Given the description of an element on the screen output the (x, y) to click on. 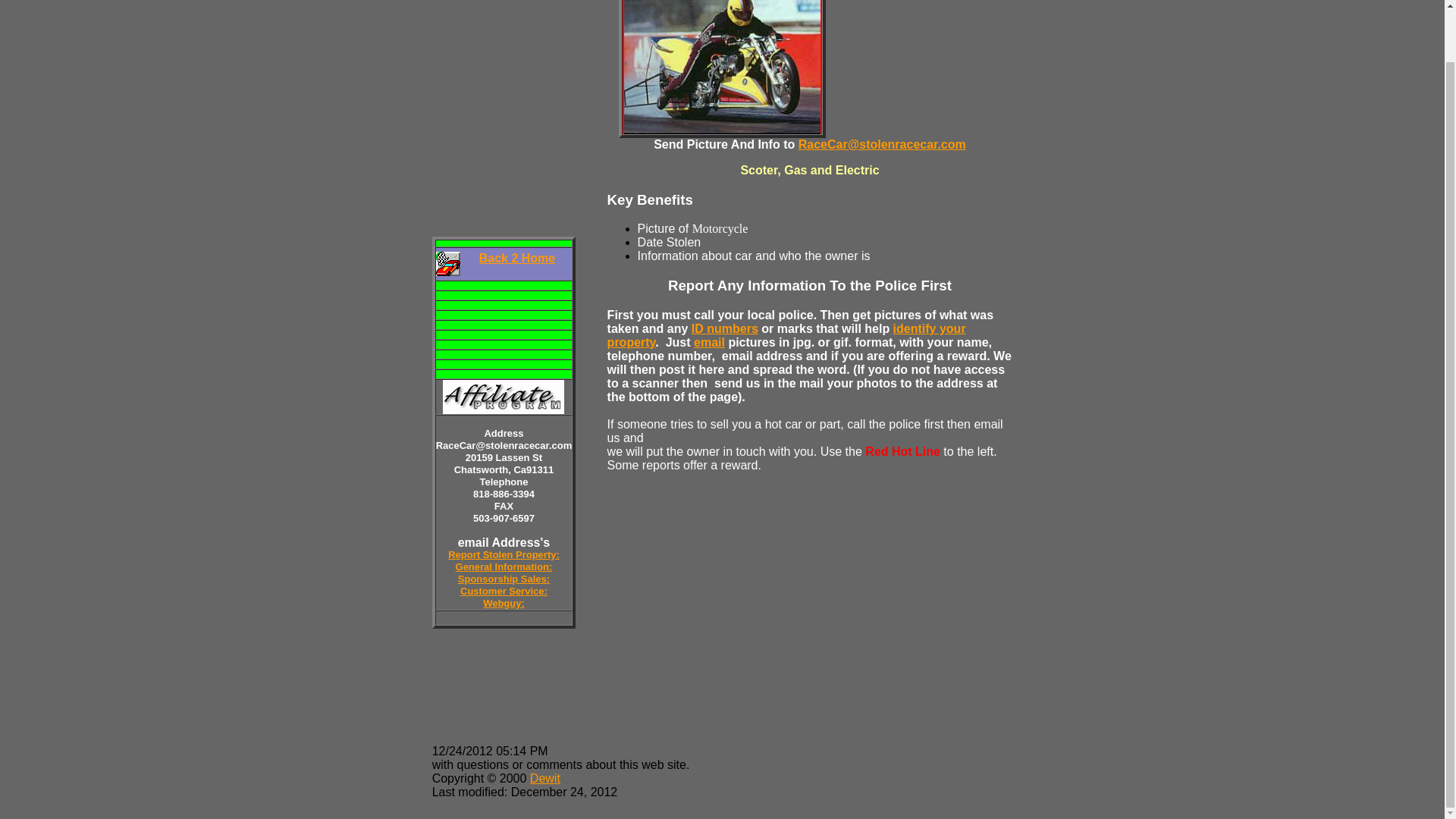
Back 2 Home (517, 257)
ID numbers (724, 328)
Dewit (544, 778)
General Information: (504, 565)
identify your property (786, 335)
email (709, 341)
Customer Service: (503, 590)
Report Stolen Property: (503, 553)
Webguy: (503, 602)
Sponsorship Sales: (504, 577)
